Given the description of an element on the screen output the (x, y) to click on. 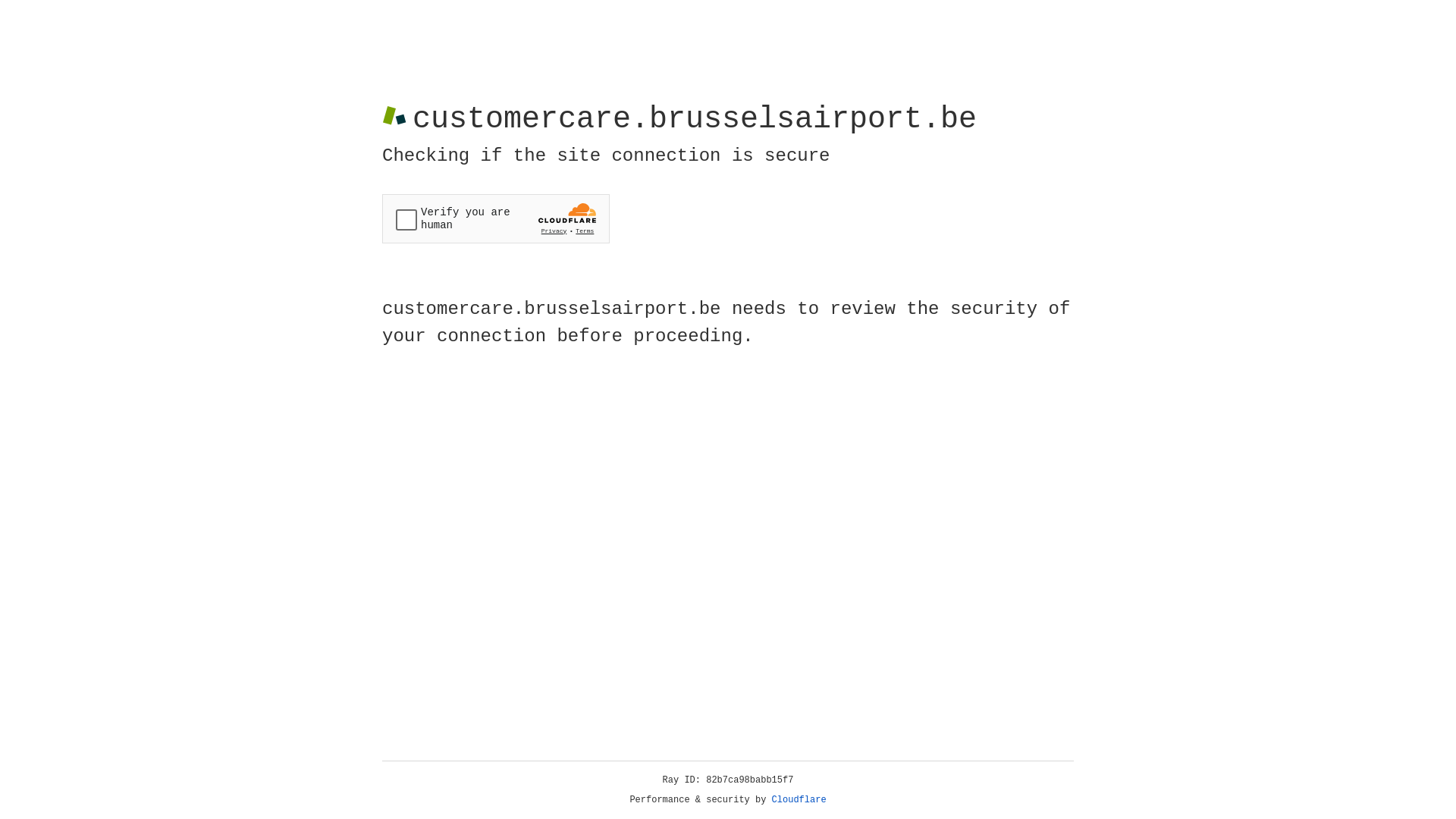
Widget containing a Cloudflare security challenge Element type: hover (495, 218)
Cloudflare Element type: text (798, 799)
